Given the description of an element on the screen output the (x, y) to click on. 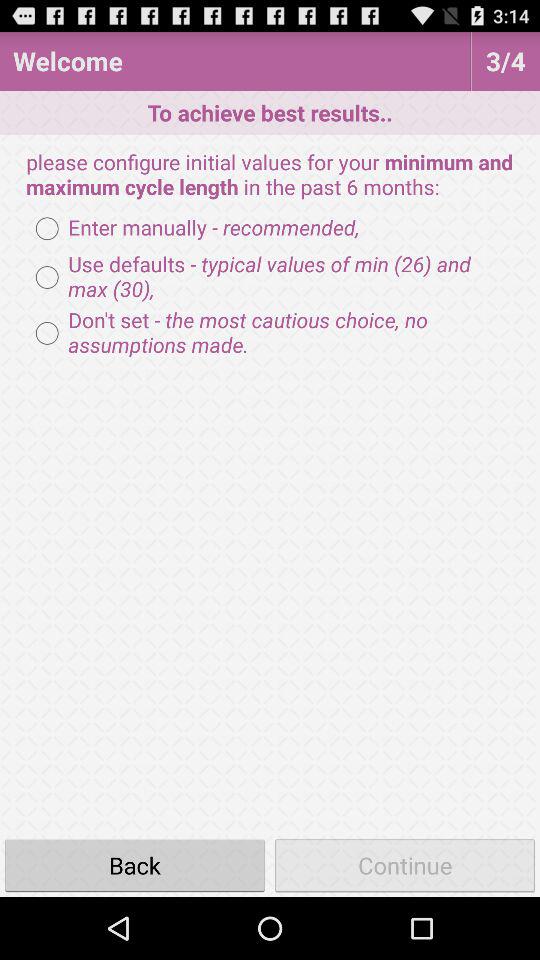
press the icon at the center (269, 333)
